Given the description of an element on the screen output the (x, y) to click on. 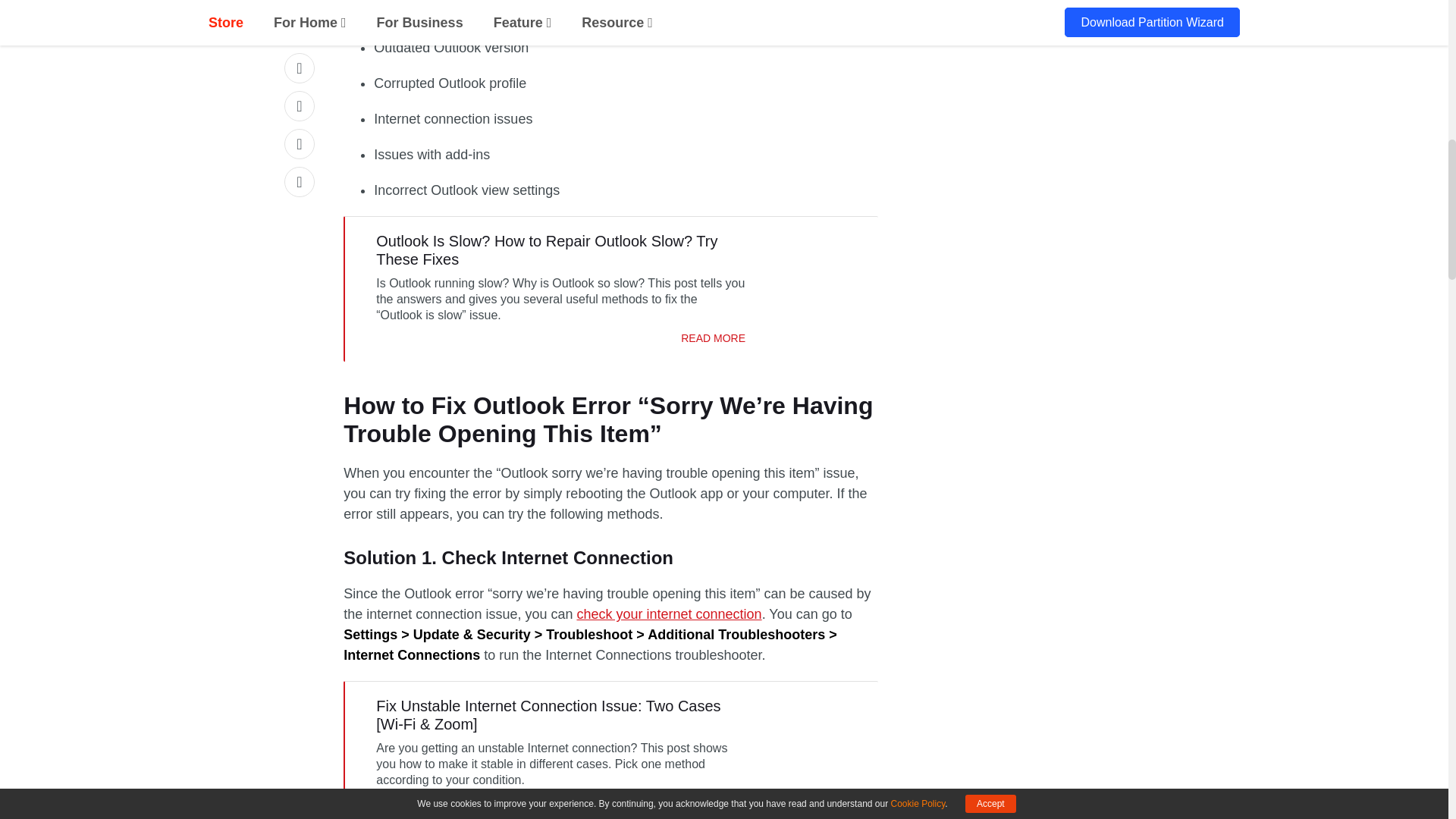
check your internet connection (668, 613)
